Given the description of an element on the screen output the (x, y) to click on. 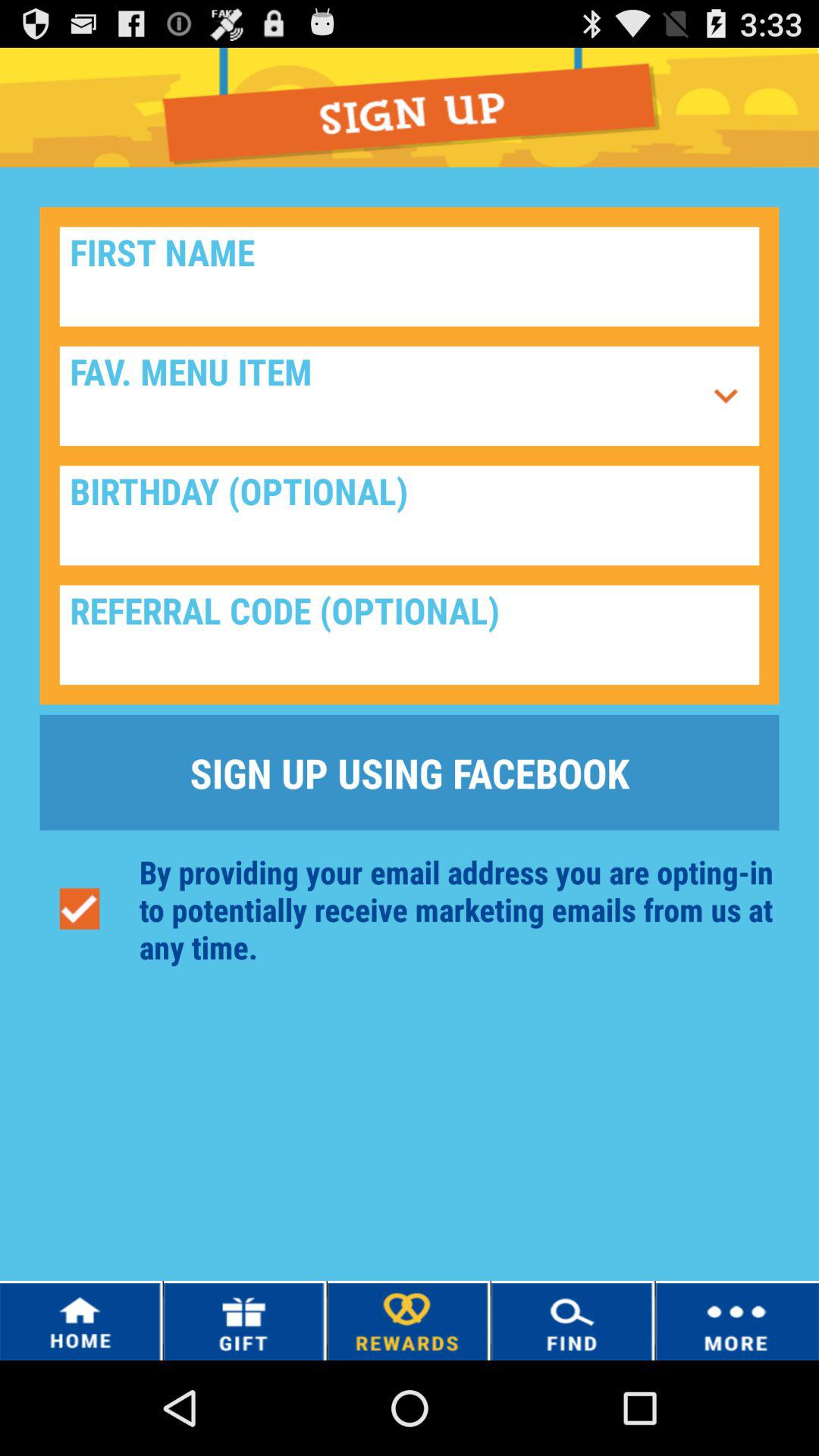
choose item next to by providing your item (79, 909)
